Given the description of an element on the screen output the (x, y) to click on. 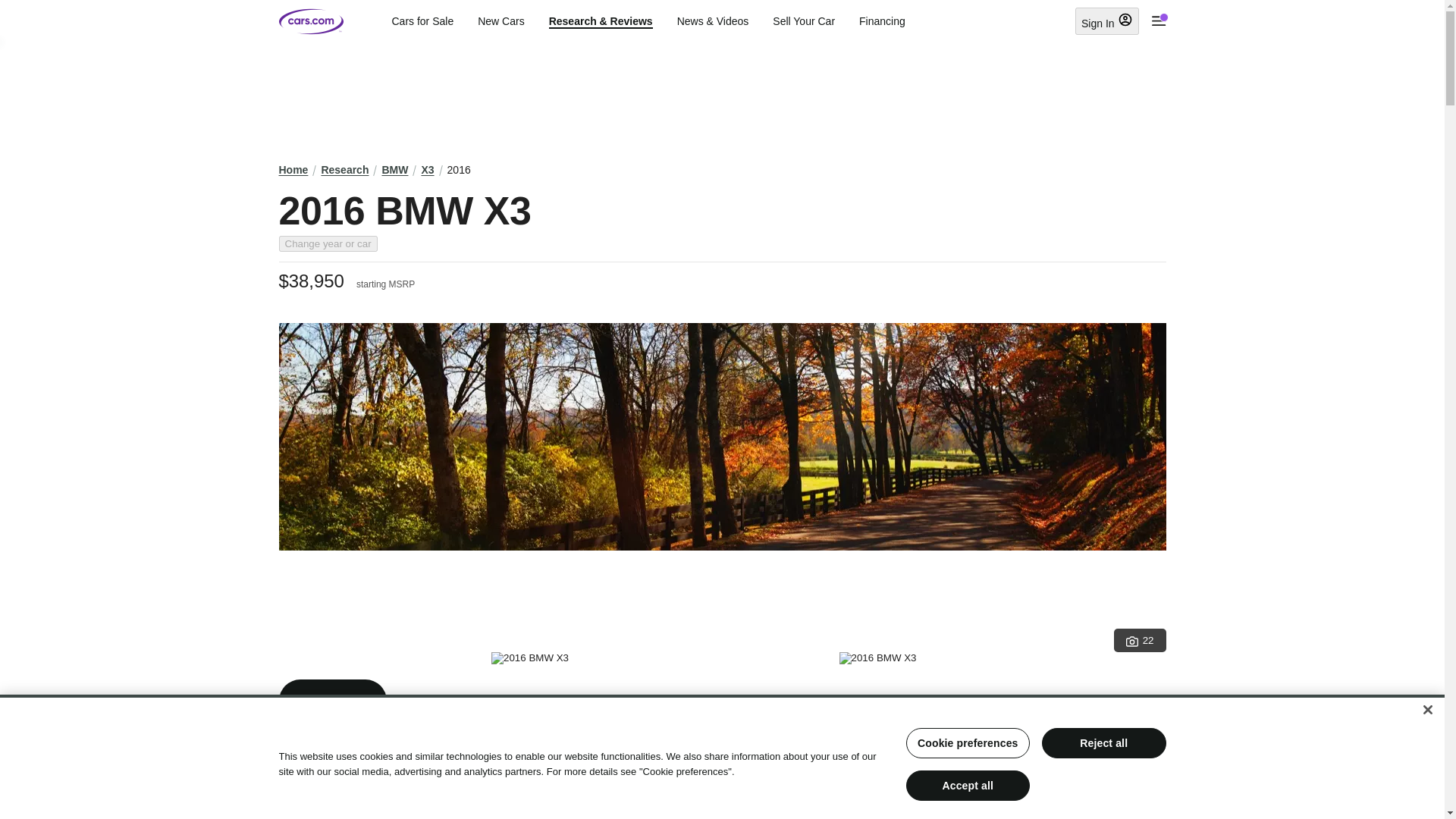
Home (293, 170)
X3 (426, 170)
Cars for Sale (421, 21)
Research (344, 170)
Skip to main content (12, 11)
Sell Your Car (803, 21)
Shop Now (333, 700)
Financing (882, 21)
New Cars (500, 21)
BMW (394, 170)
